Given the description of an element on the screen output the (x, y) to click on. 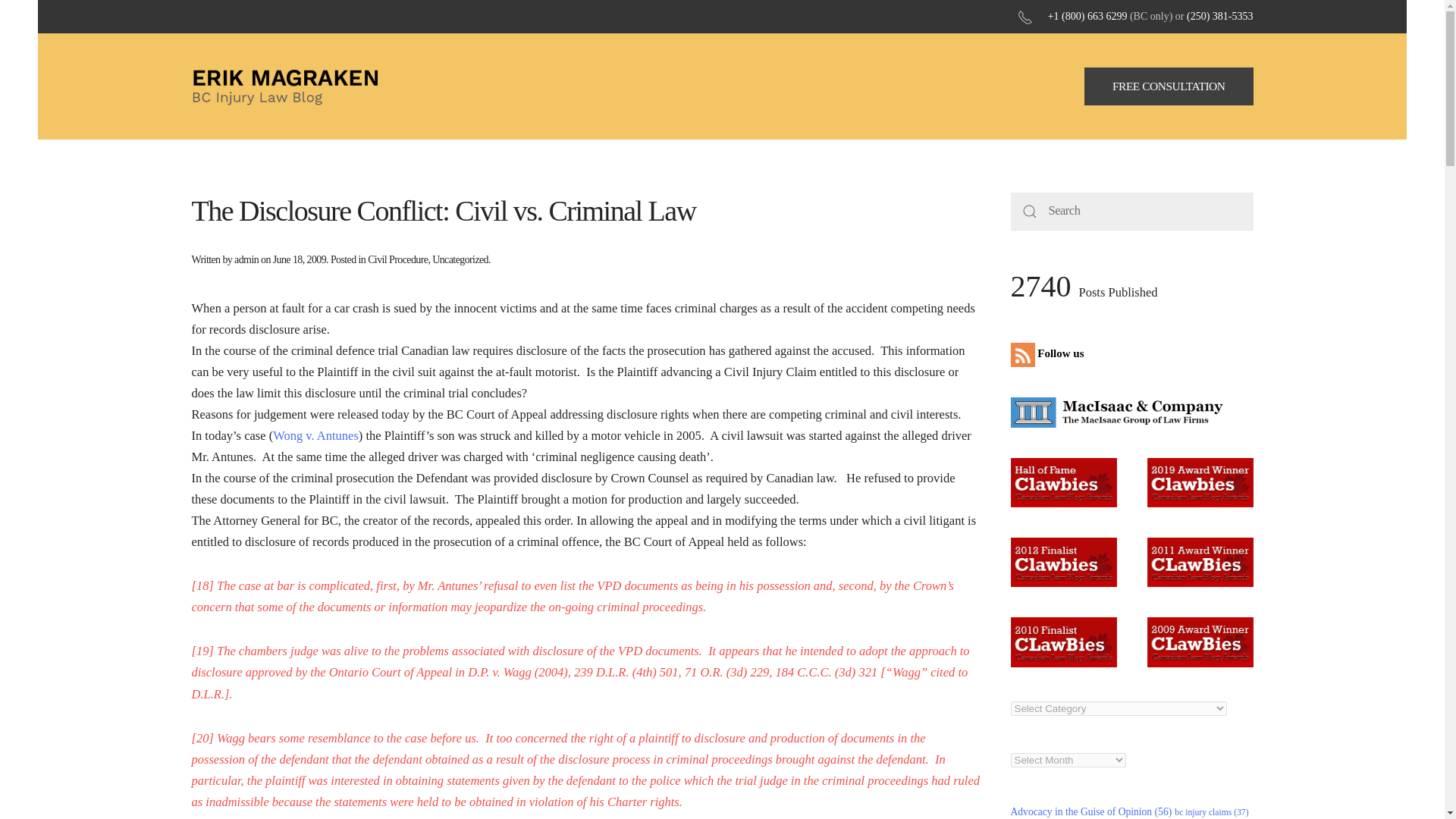
Wong v. Antunes (315, 435)
Follow us (1050, 353)
Civil Procedure (398, 259)
Uncategorized (459, 259)
FREE CONSULTATION (1168, 86)
admin (246, 259)
